Given the description of an element on the screen output the (x, y) to click on. 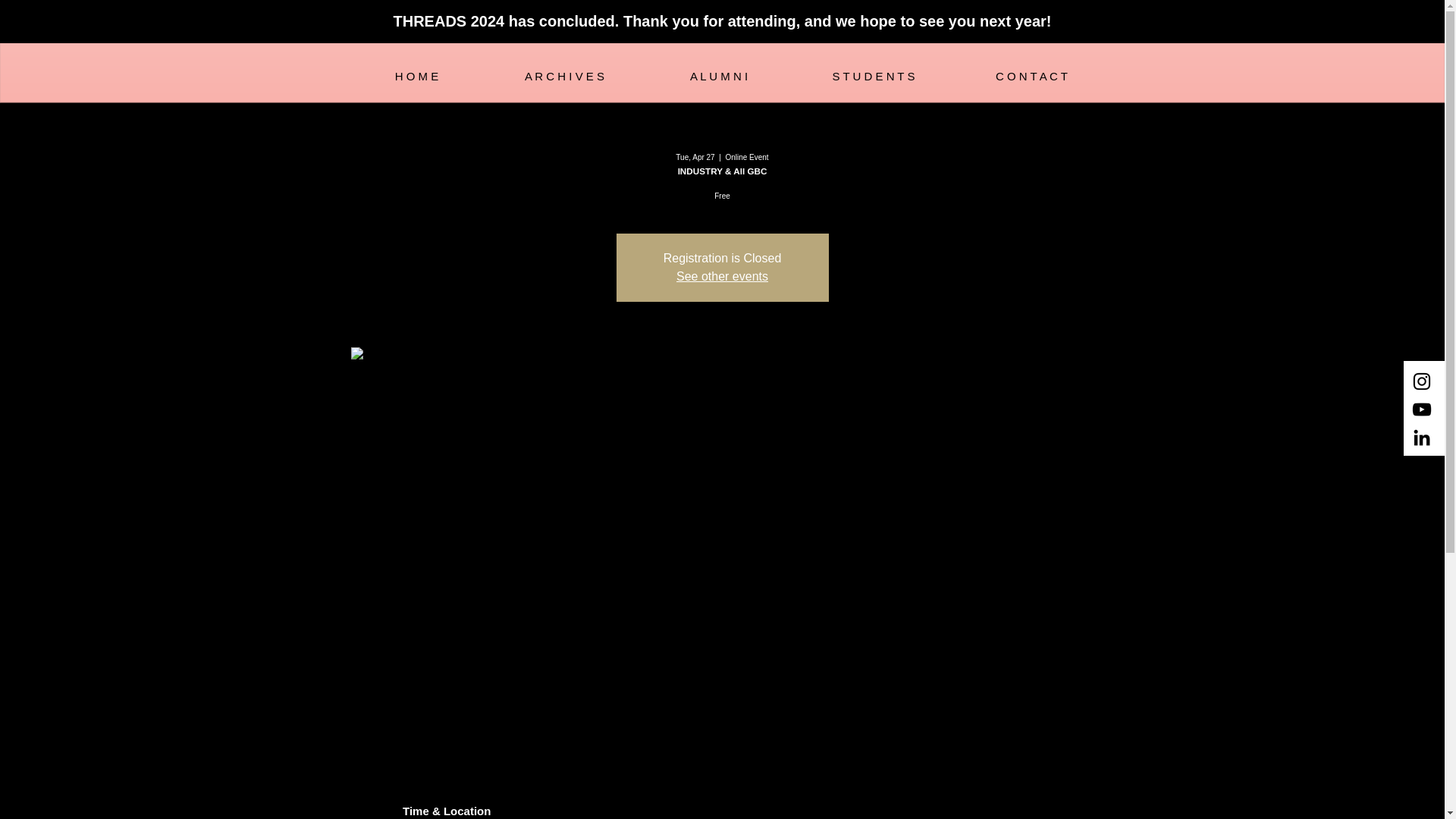
C O N T A C T (1030, 75)
A L U M N I (718, 75)
A R C H I V E S (563, 75)
See other events (722, 276)
S T U D E N T S (873, 75)
H O M E (416, 75)
